Given the description of an element on the screen output the (x, y) to click on. 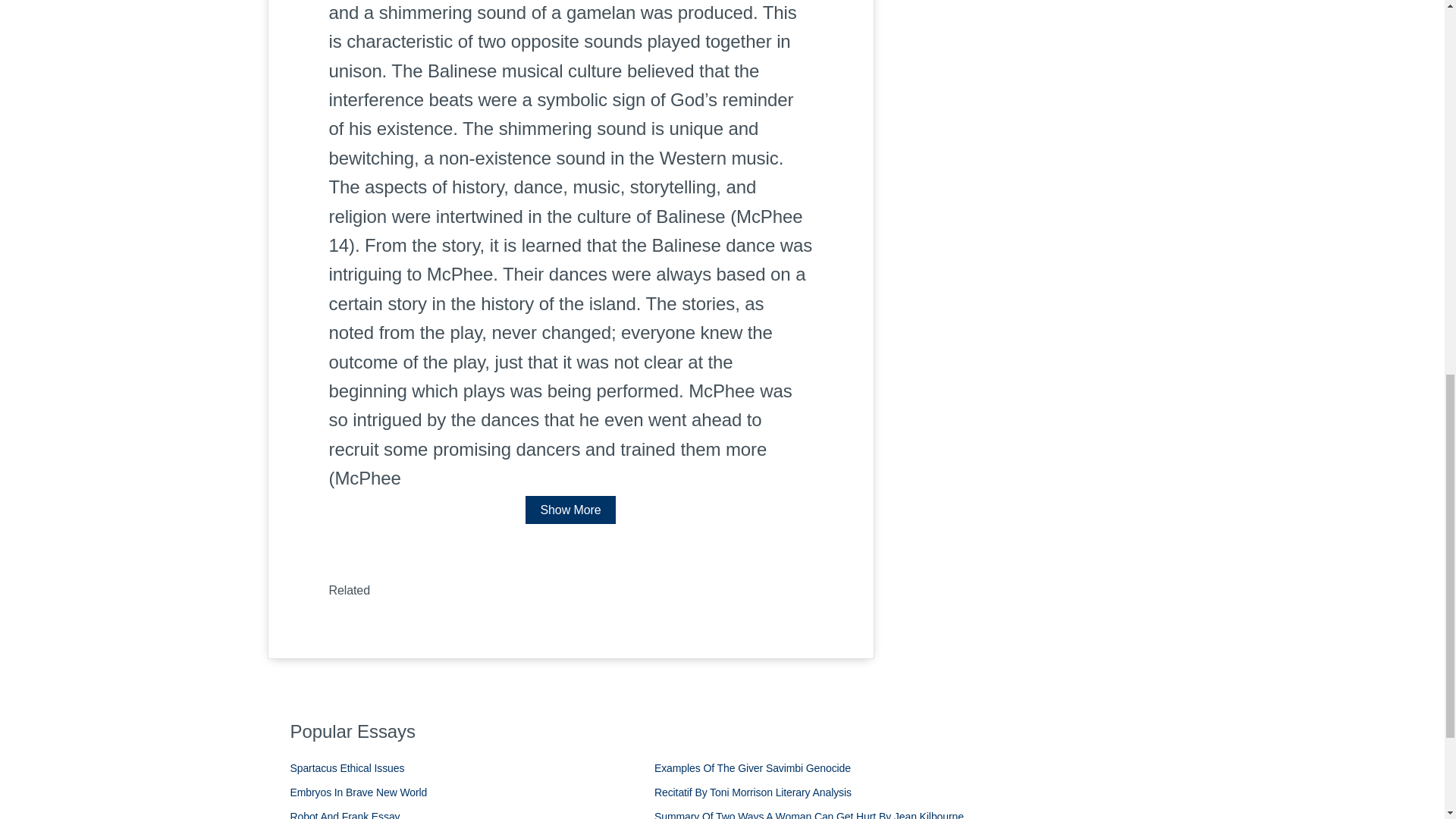
Spartacus Ethical Issues (346, 767)
Embryos In Brave New World (357, 792)
Summary Of Two Ways A Woman Can Get Hurt By Jean Kilbourne (808, 814)
Show More (569, 510)
Recitatif By Toni Morrison Literary Analysis (752, 792)
Examples Of The Giver Savimbi Genocide (751, 767)
Summary Of Two Ways A Woman Can Get Hurt By Jean Kilbourne (808, 814)
Spartacus Ethical Issues (346, 767)
Robot And Frank Essay (343, 814)
Robot And Frank Essay (343, 814)
Examples Of The Giver Savimbi Genocide (751, 767)
Embryos In Brave New World (357, 792)
Recitatif By Toni Morrison Literary Analysis (752, 792)
